Given the description of an element on the screen output the (x, y) to click on. 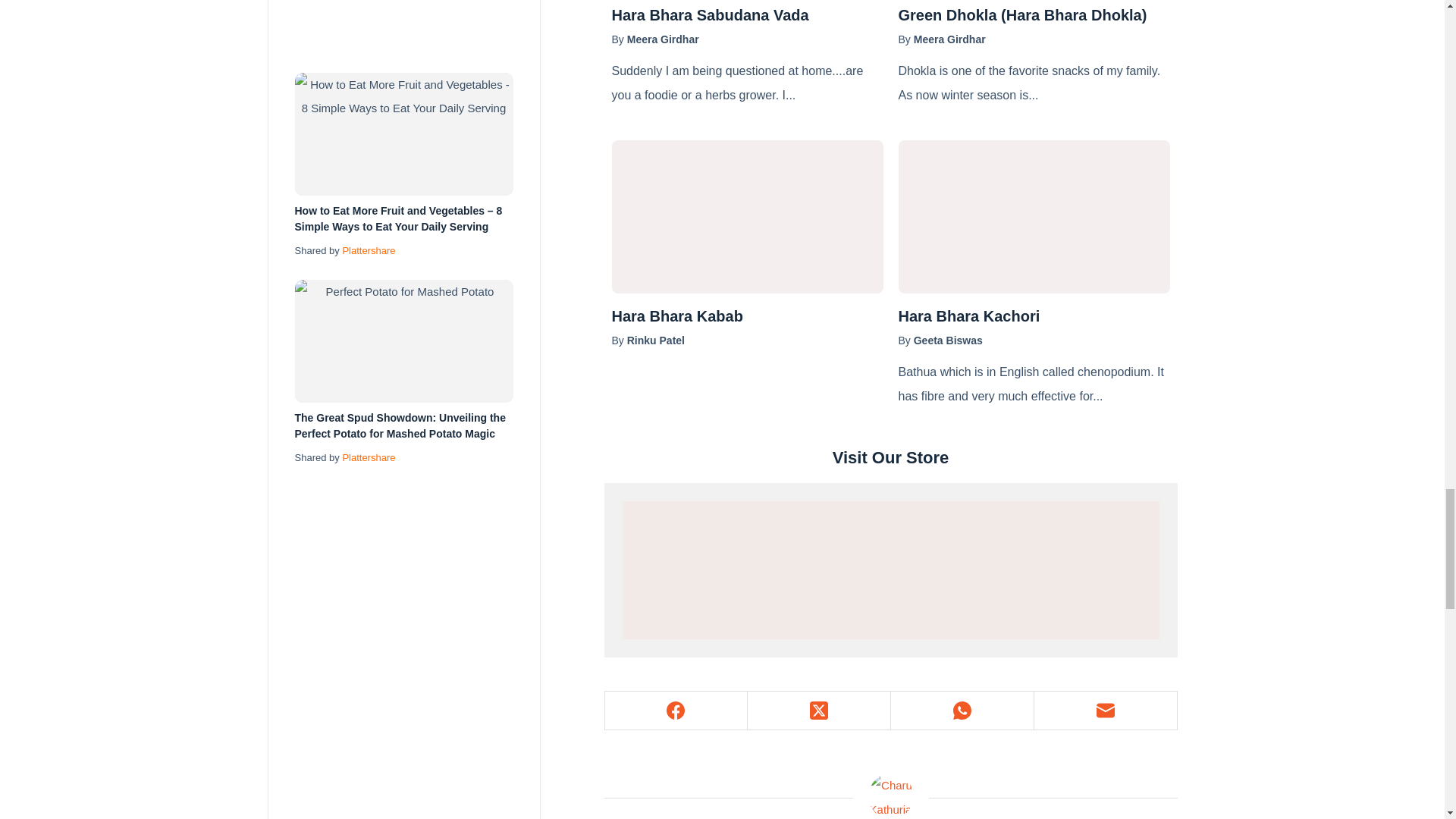
Hara Bhara Sabudana Vada (746, 15)
